Given the description of an element on the screen output the (x, y) to click on. 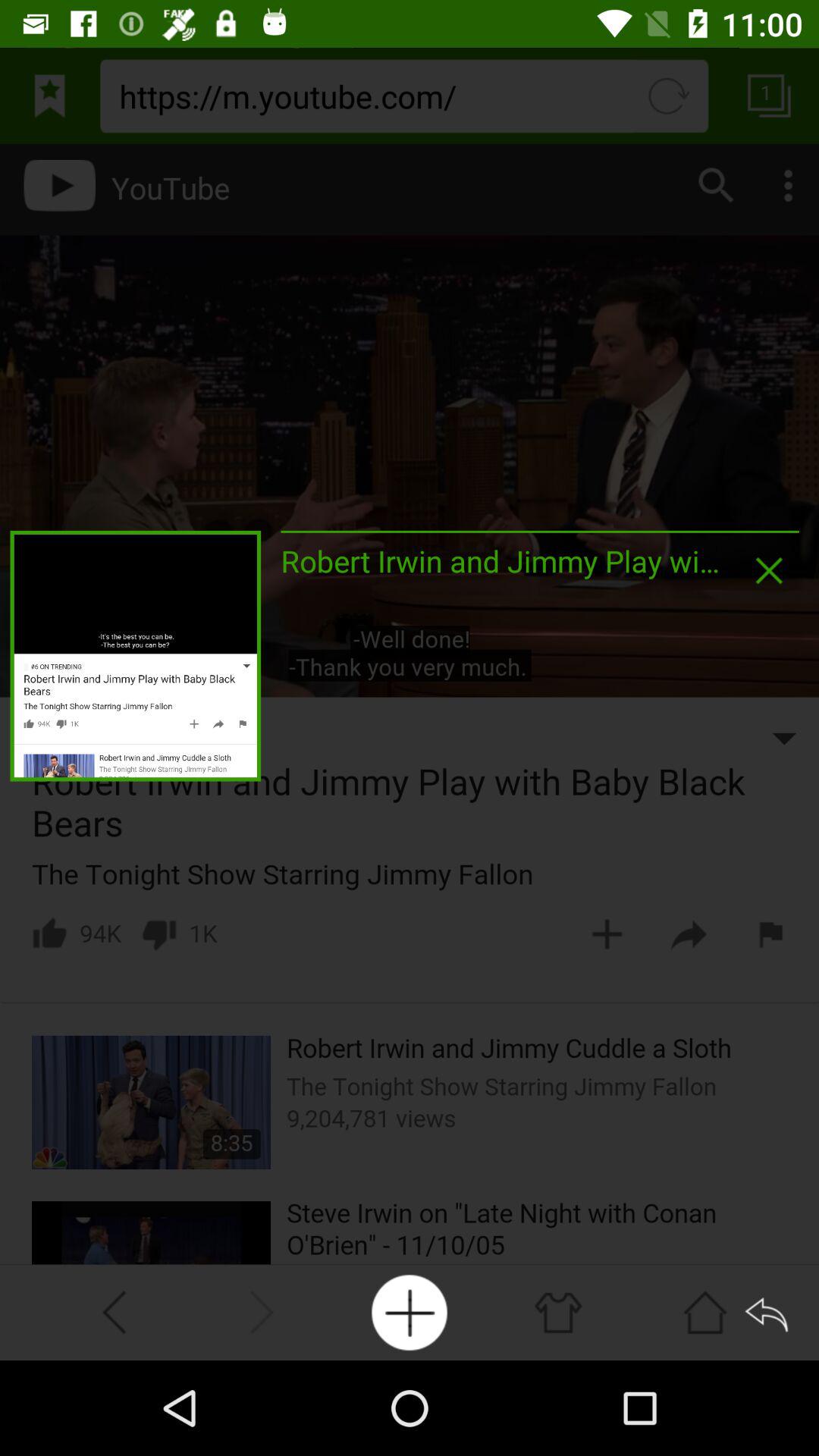
close pop up (769, 570)
